Given the description of an element on the screen output the (x, y) to click on. 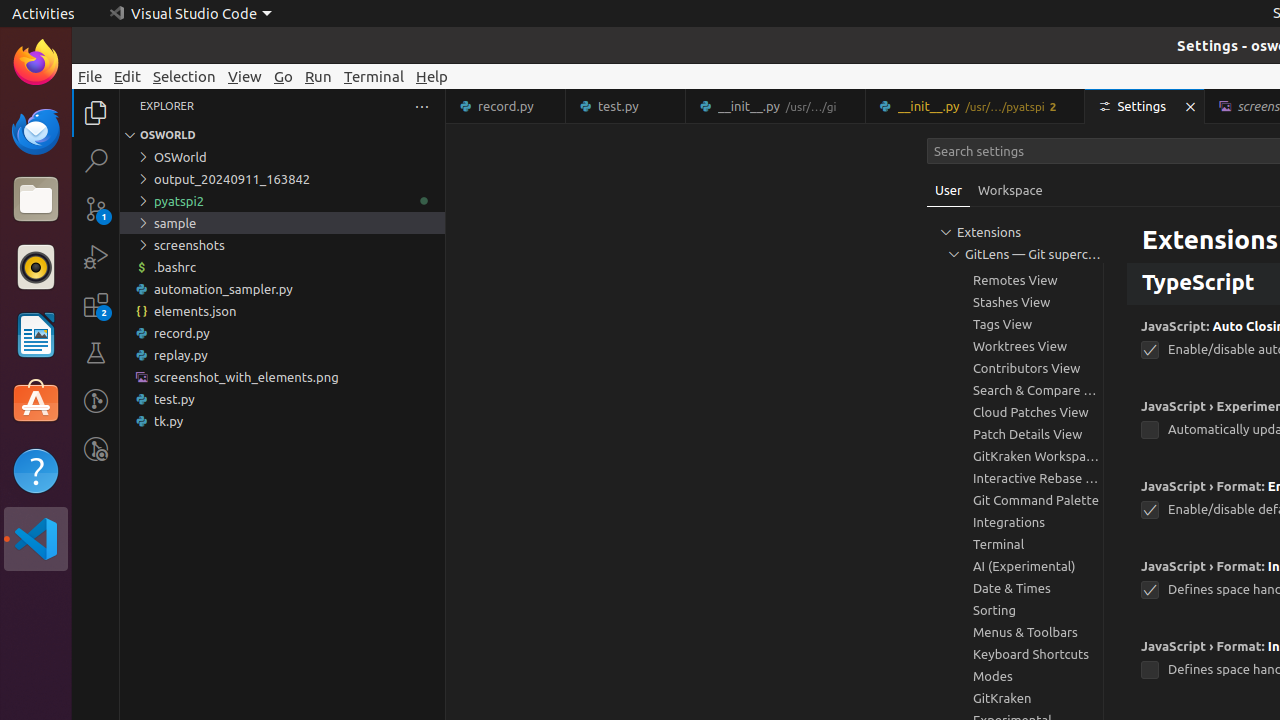
Terminal Element type: push-button (374, 76)
Explorer Section: osworld Element type: push-button (282, 135)
User Element type: check-box (949, 190)
